Given the description of an element on the screen output the (x, y) to click on. 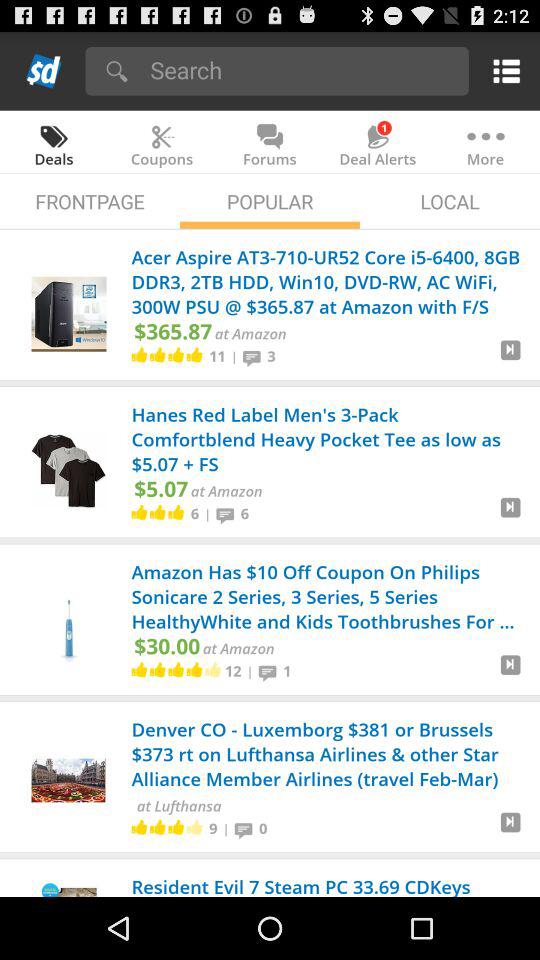
click forward option (510, 357)
